Given the description of an element on the screen output the (x, y) to click on. 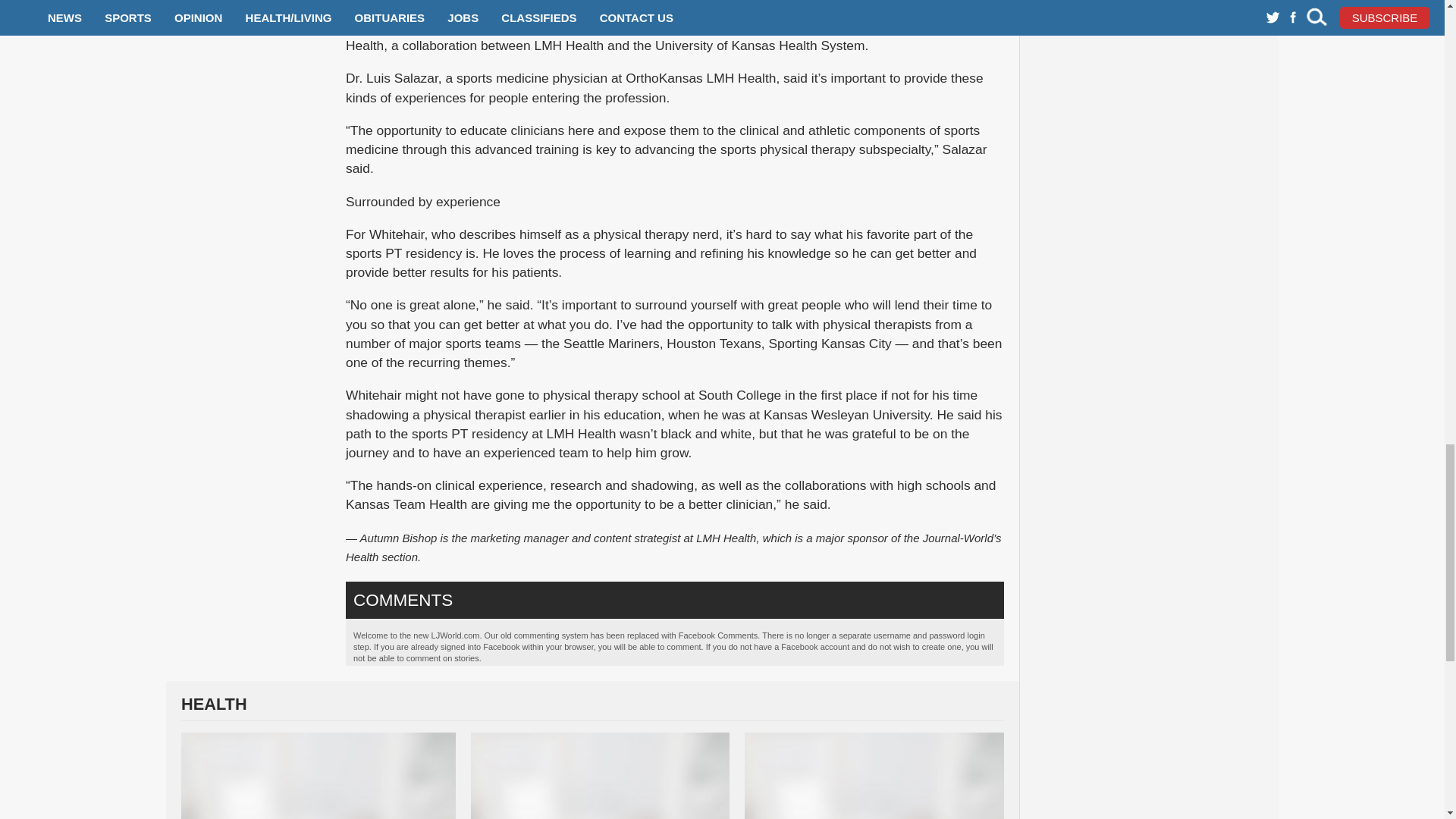
HEALTH (592, 708)
